Given the description of an element on the screen output the (x, y) to click on. 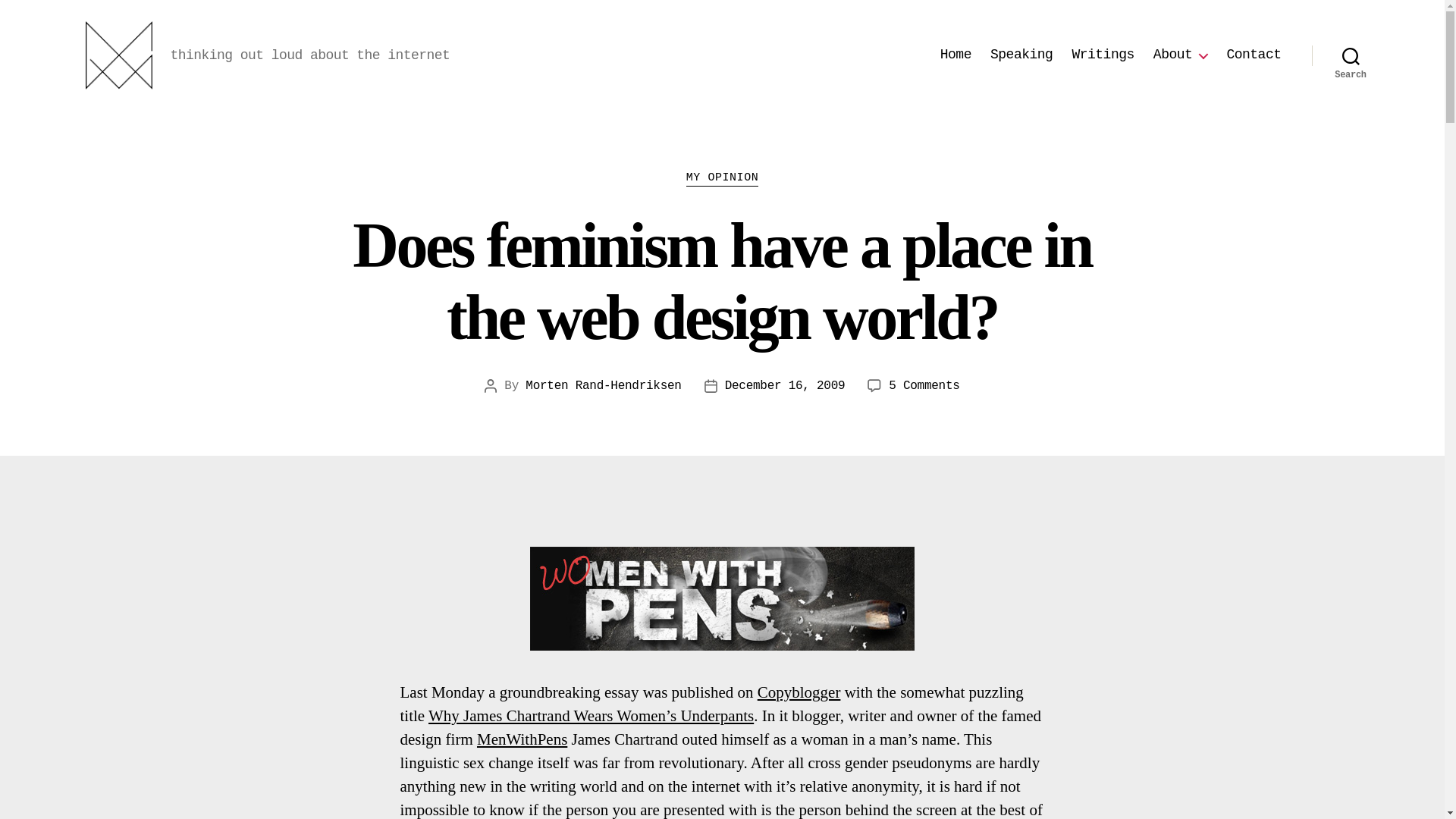
Men With Pens (721, 598)
Contact Morten Rand-Hendriksen (1253, 54)
Read the story that started it all (591, 715)
MenWithPens (522, 739)
Home (955, 54)
MY OPINION (721, 178)
Copyblogger (799, 692)
December 16, 2009 (785, 386)
Writings (1102, 54)
